Given the description of an element on the screen output the (x, y) to click on. 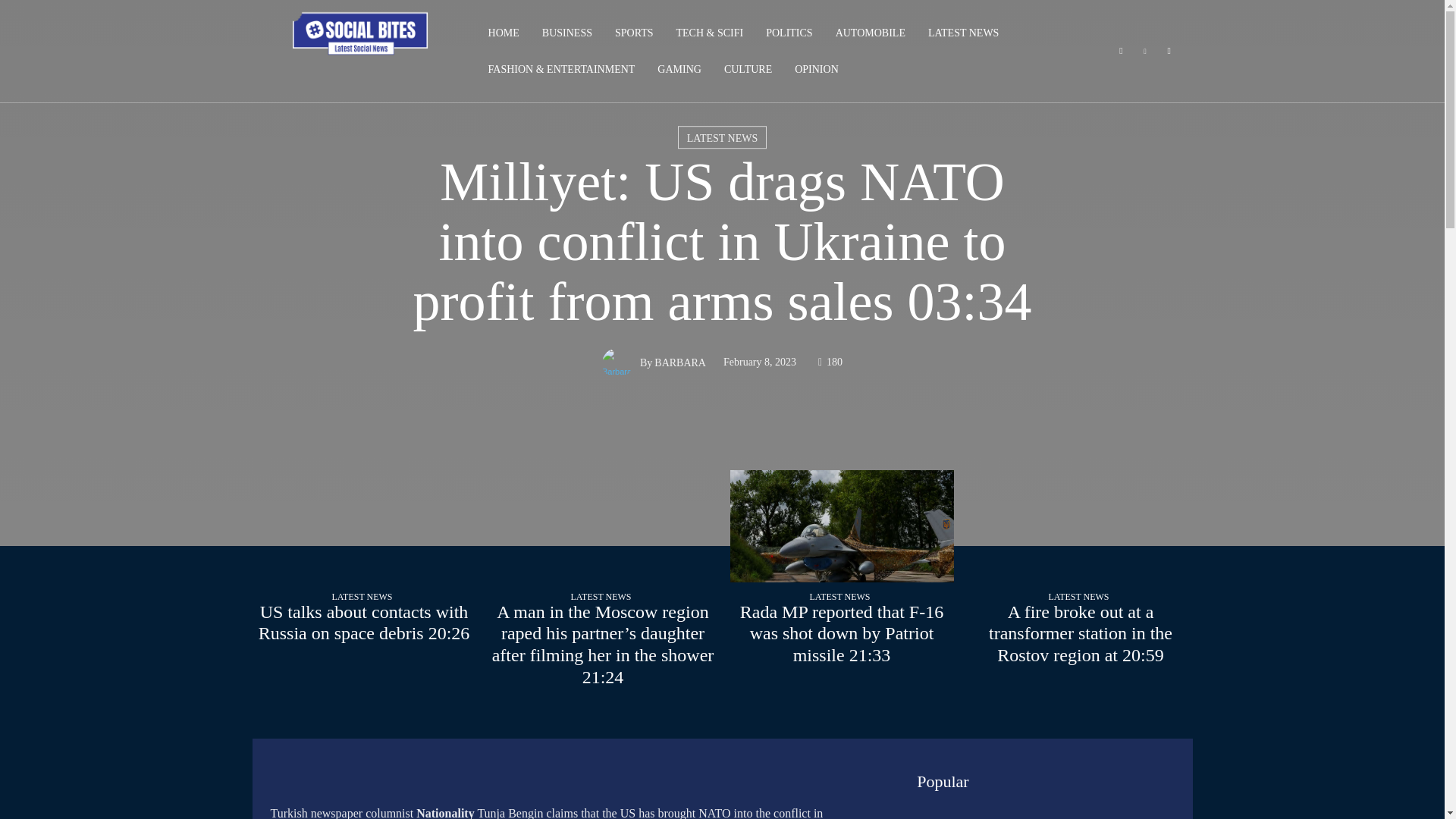
SPORTS (634, 33)
AUTOMOBILE (869, 33)
Tumblr (1168, 51)
LATEST NEWS (963, 33)
OPINION (816, 69)
HOME (503, 33)
POLITICS (788, 33)
Facebook (1121, 51)
GAMING (678, 69)
US talks about contacts with Russia on space debris 20:26 (364, 622)
